Given the description of an element on the screen output the (x, y) to click on. 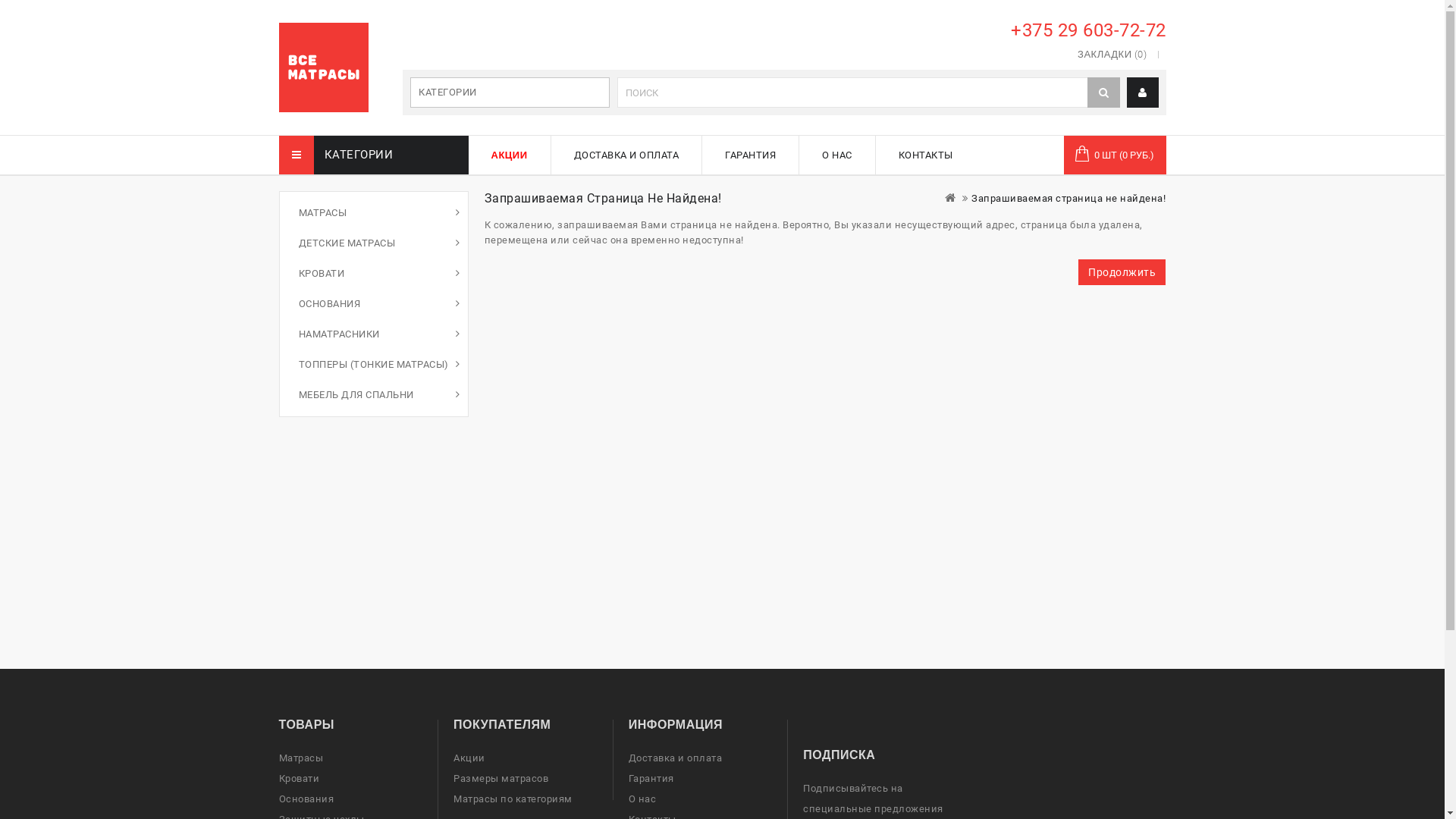
+375 29 603-72-72 Element type: text (1085, 29)
